Given the description of an element on the screen output the (x, y) to click on. 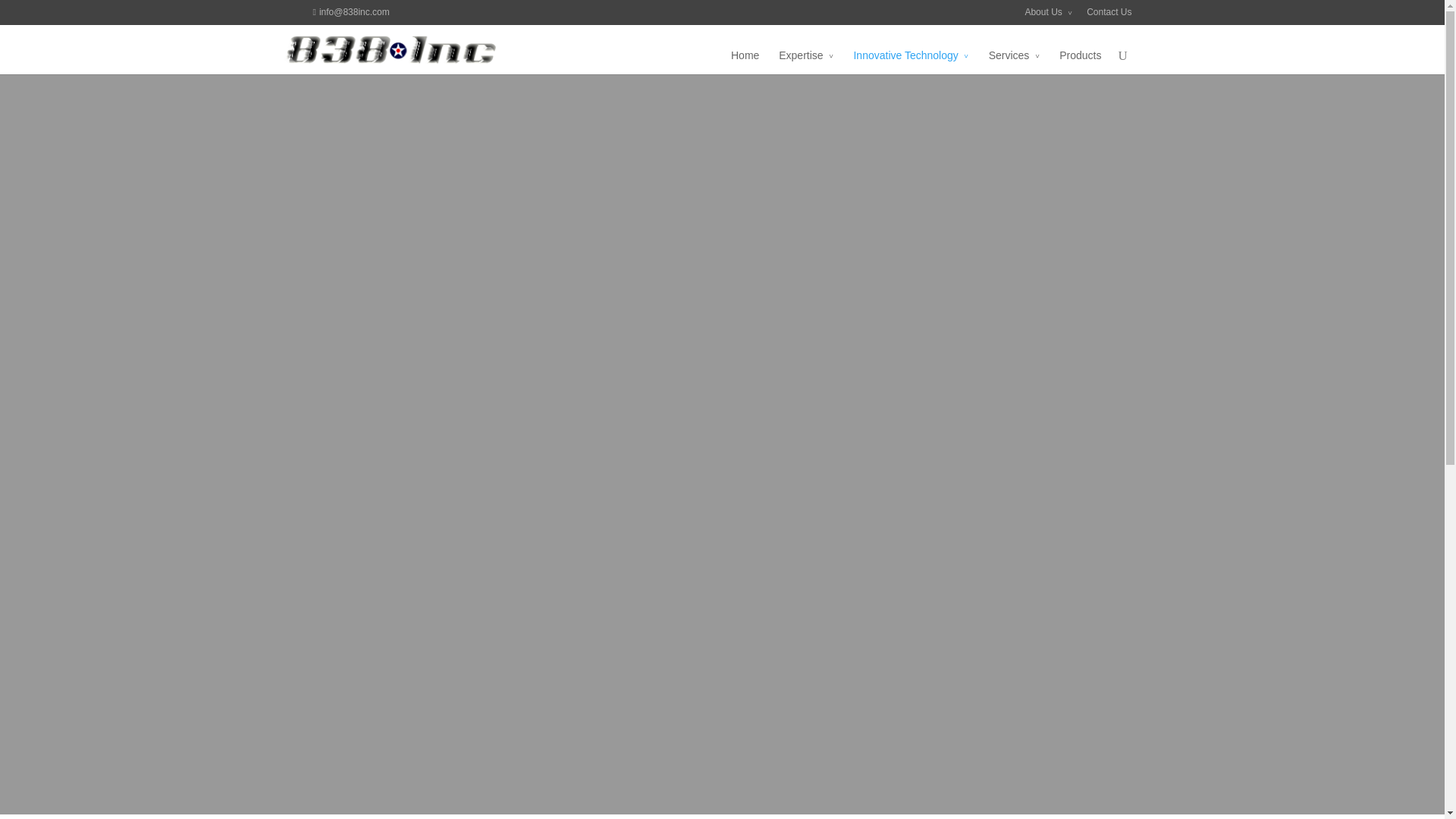
Services (1014, 66)
Expertise (805, 66)
Contact Us (1108, 16)
About Us (1048, 16)
Products (1079, 66)
Innovative Technology (910, 66)
